Given the description of an element on the screen output the (x, y) to click on. 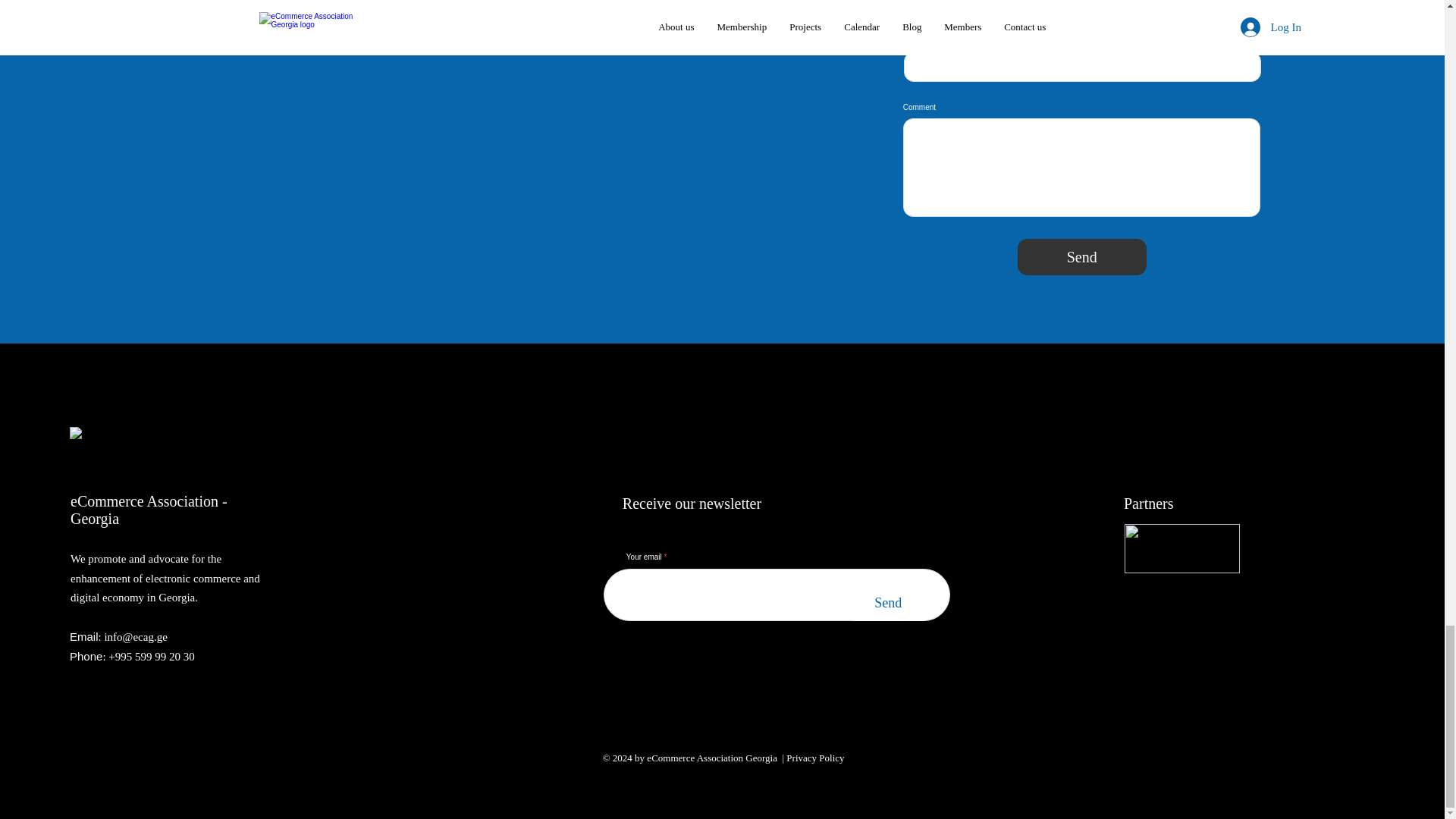
Send (1082, 257)
Privacy Policy (815, 757)
Send (888, 602)
